Given the description of an element on the screen output the (x, y) to click on. 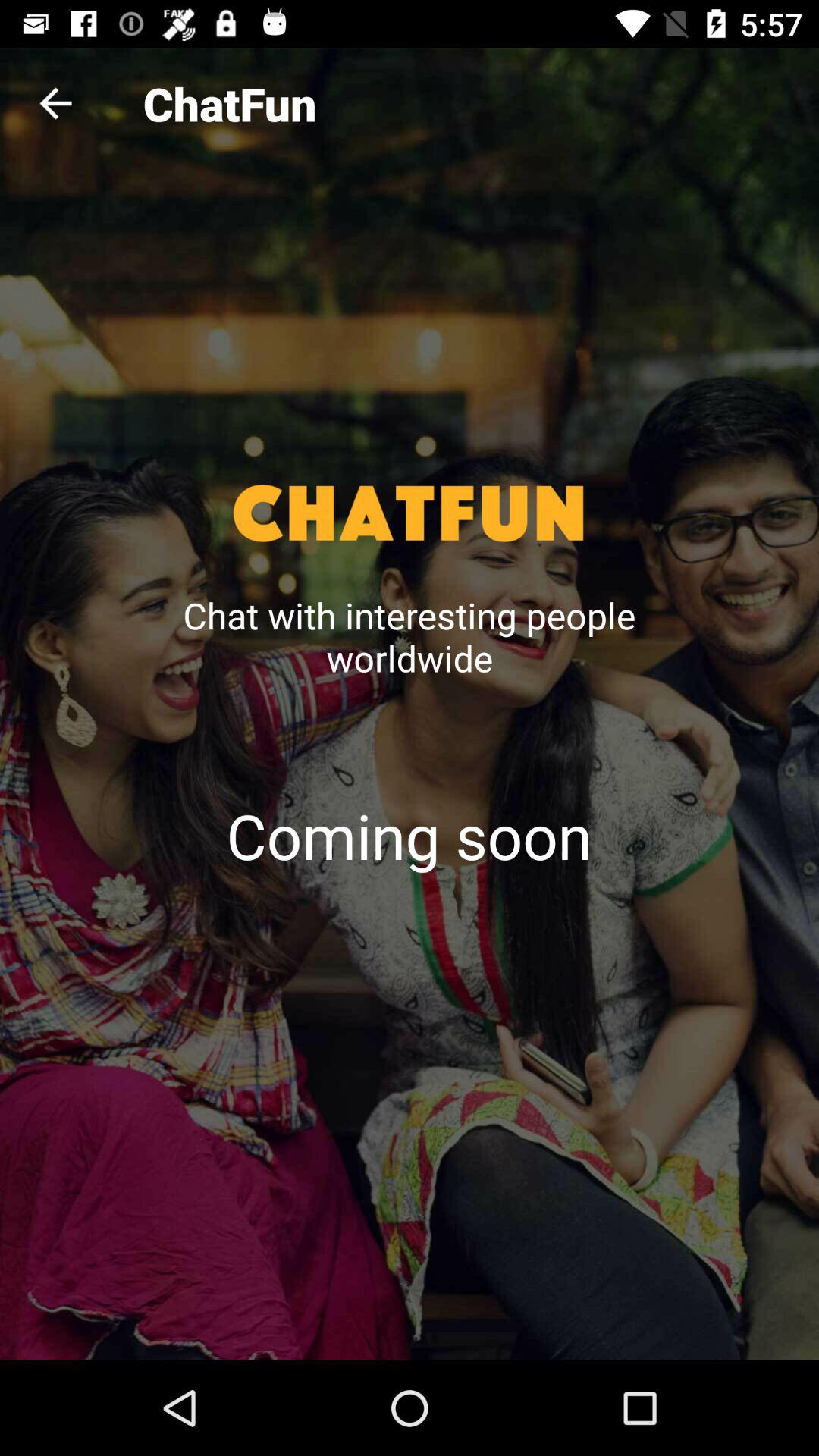
press item to the left of chatfun icon (55, 103)
